Given the description of an element on the screen output the (x, y) to click on. 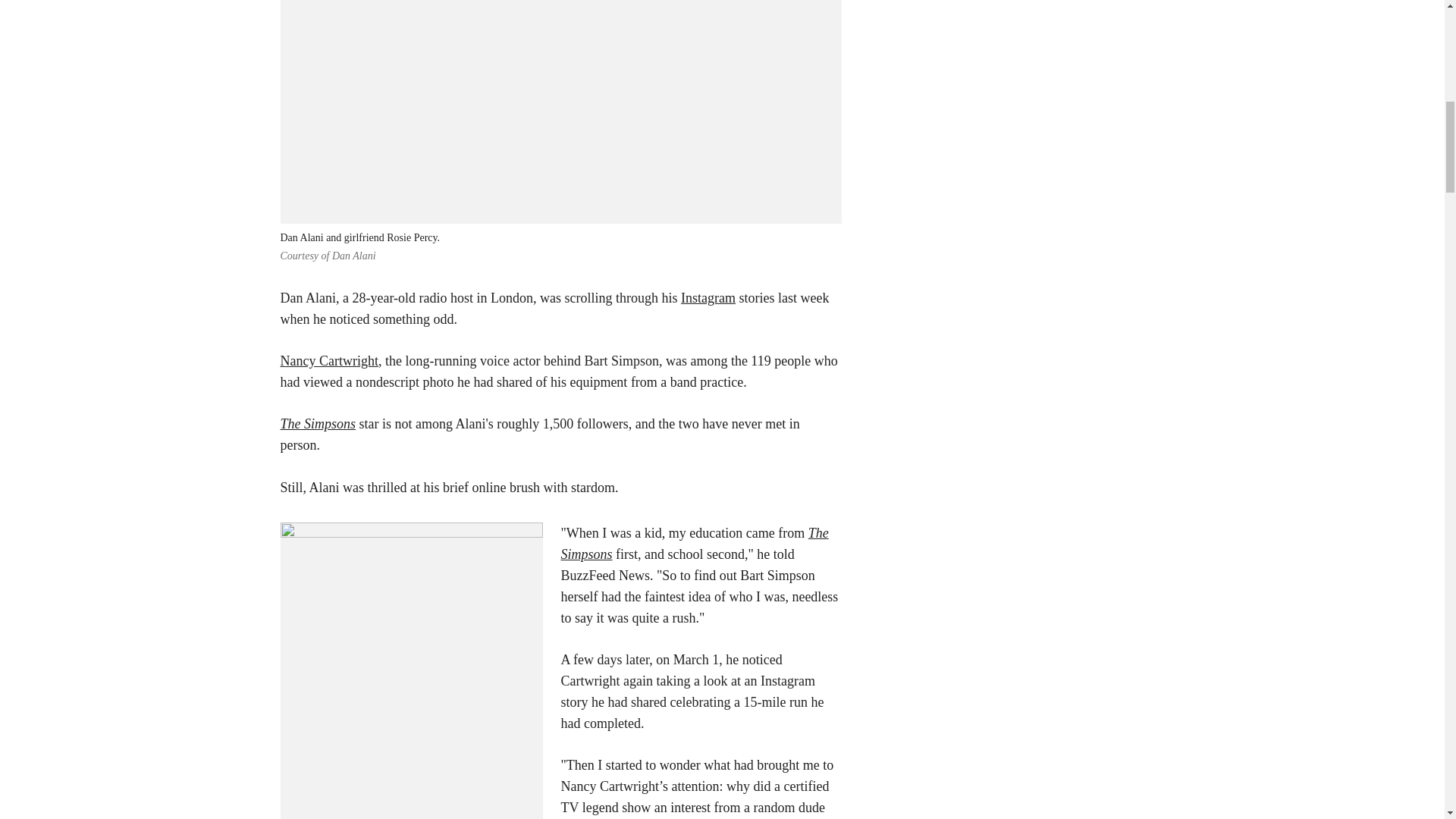
The Simpsons (694, 543)
Instagram (708, 297)
The Simpsons (318, 423)
Nancy Cartwright (329, 360)
